Given the description of an element on the screen output the (x, y) to click on. 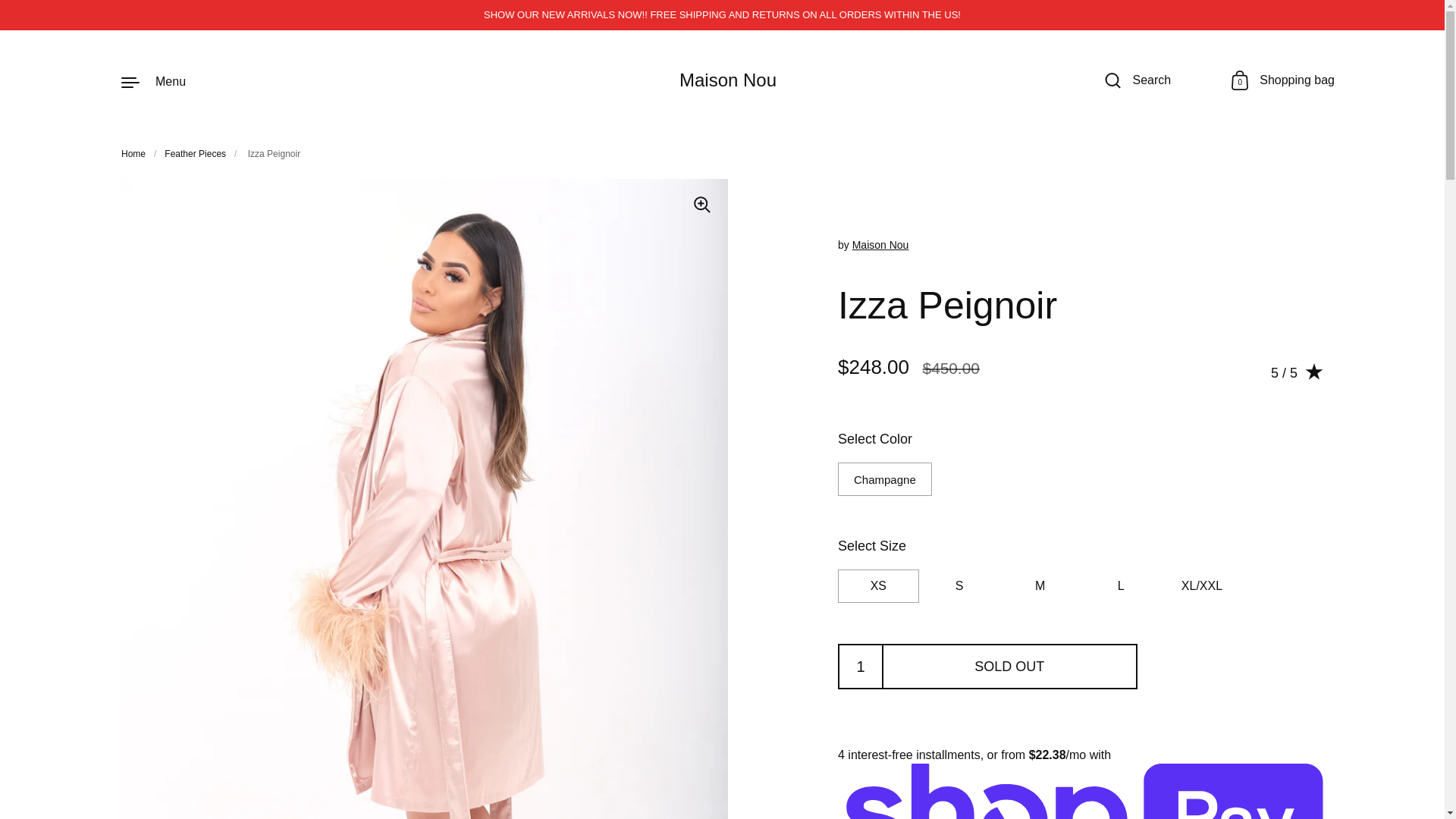
Search (1138, 81)
Maison Nou (879, 244)
Maison Nou (727, 79)
Menu (1283, 81)
1 (153, 81)
Maison Nou (860, 666)
